Given the description of an element on the screen output the (x, y) to click on. 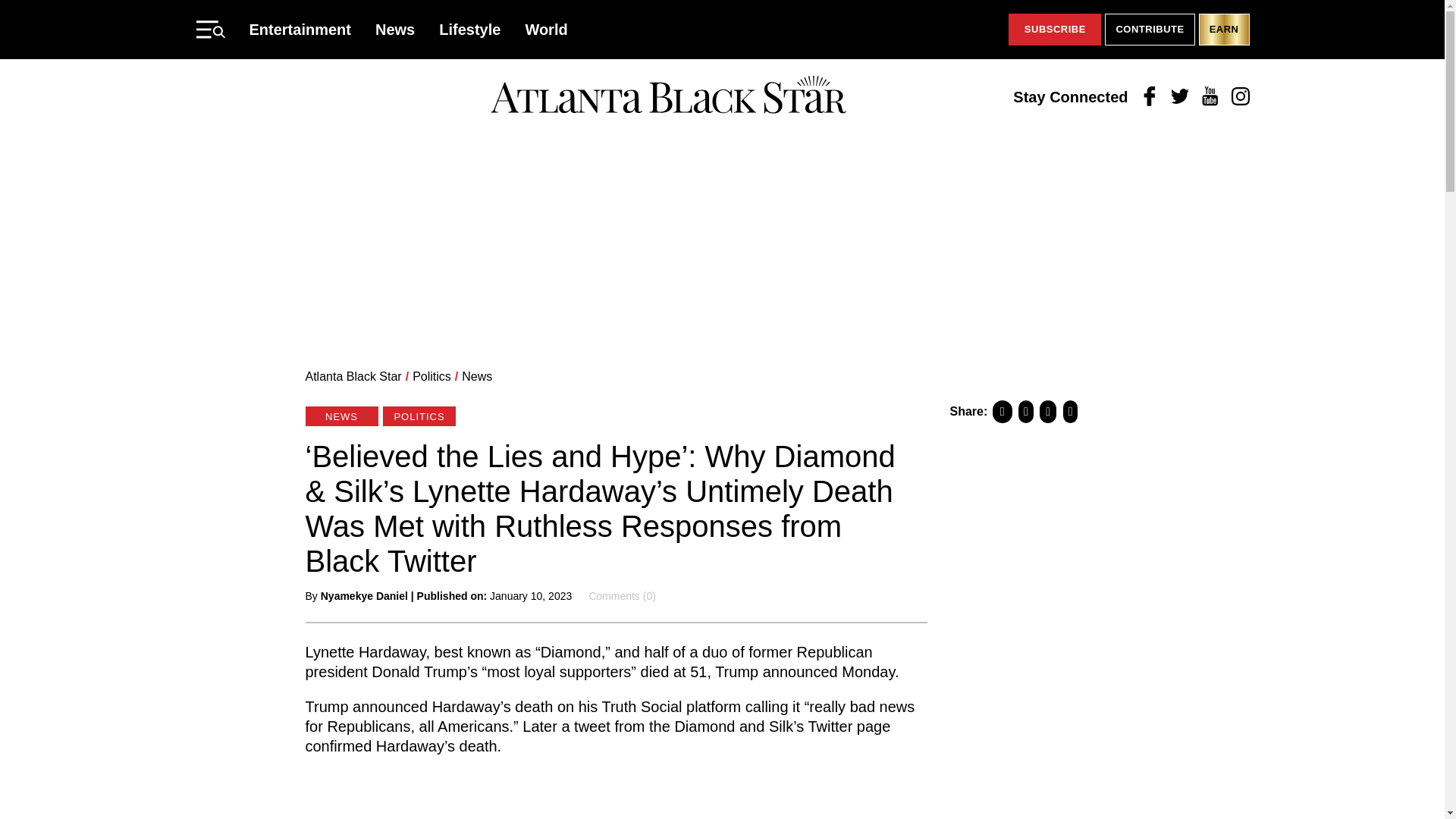
Go to Atlanta Black Star. (352, 376)
EARN (1223, 29)
Atlanta Black Star (352, 376)
Entertainment (299, 29)
Go to the Politics Category archives. (431, 376)
Atlanta Black Star (667, 96)
Lifestyle (469, 29)
SUBSCRIBE (1054, 29)
Politics (431, 376)
News (394, 29)
Go to the News Category archives. (476, 376)
CONTRIBUTE (1149, 29)
World (545, 29)
